Given the description of an element on the screen output the (x, y) to click on. 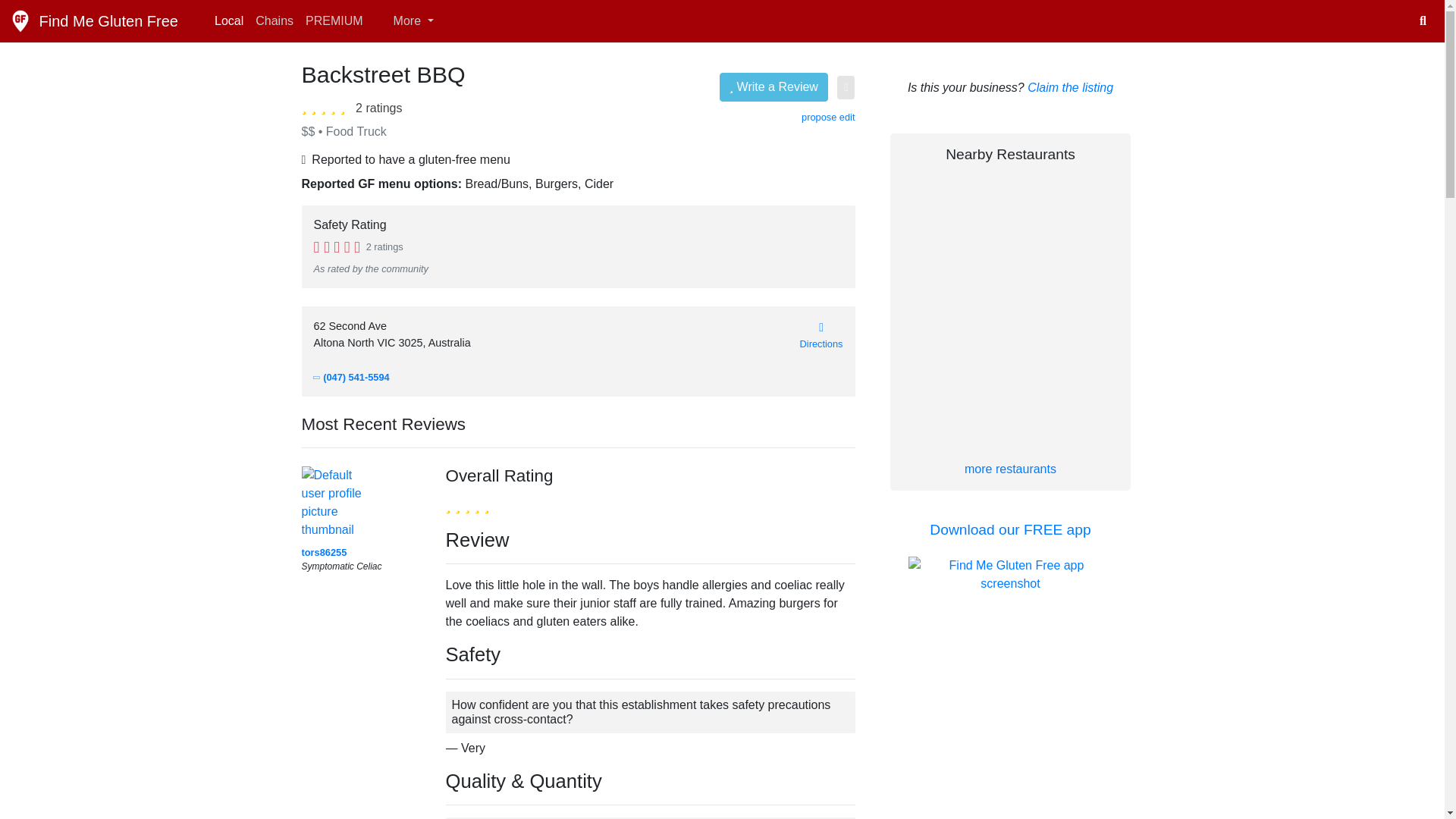
More (404, 20)
tors86255 (324, 555)
5 star rating (467, 504)
more restaurants (1010, 468)
Directions (821, 334)
propose edit (828, 116)
Local (228, 20)
Write a Review (773, 86)
4.85 safety rating (336, 246)
Download our FREE app (1010, 529)
